Given the description of an element on the screen output the (x, y) to click on. 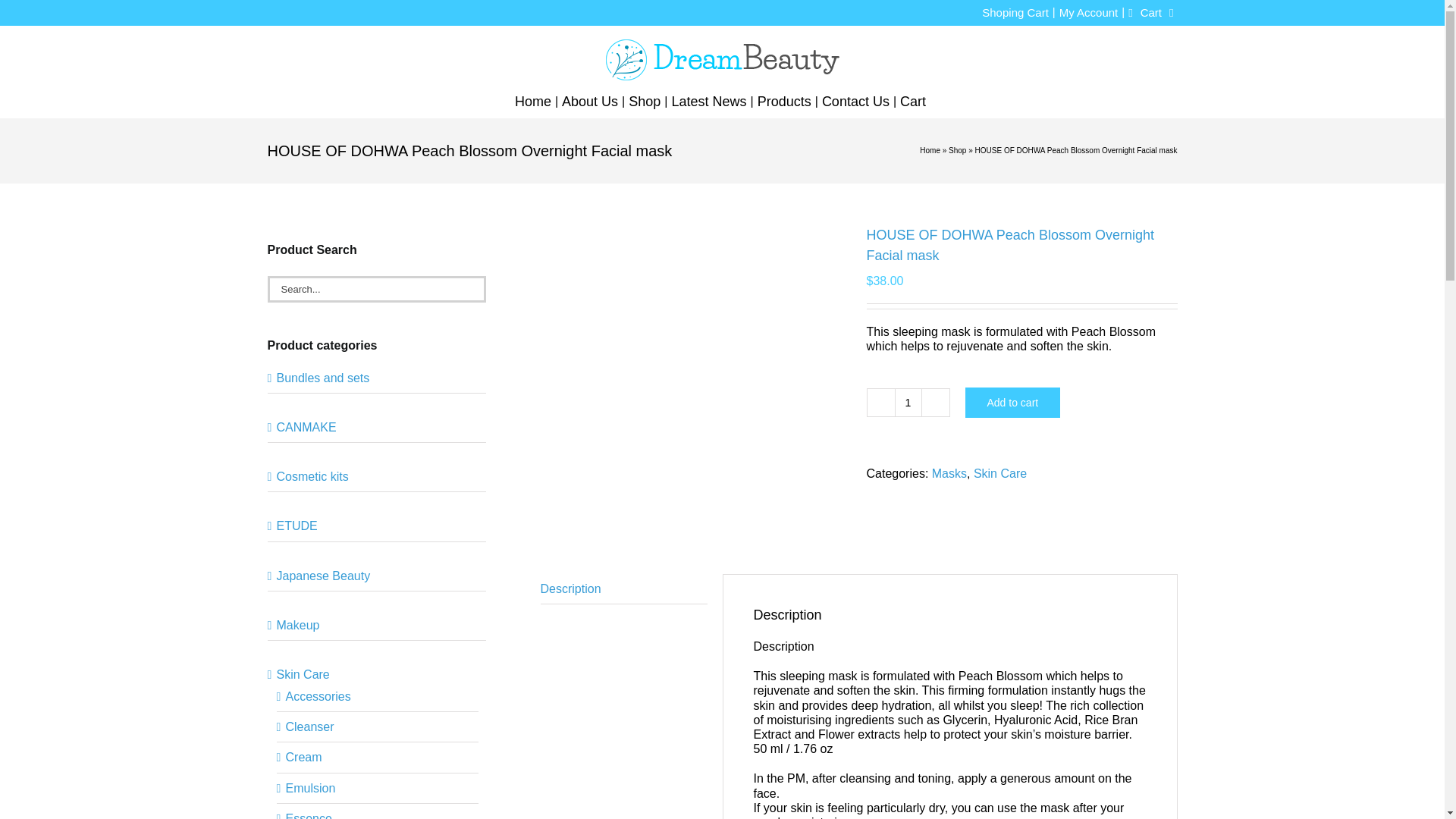
Add to cart (1011, 402)
Description (623, 589)
Masks (948, 472)
Home (533, 101)
Contact Us (855, 101)
Skin Care (1000, 472)
Shop (957, 149)
About Us (589, 101)
Products (783, 101)
1 (908, 402)
